Given the description of an element on the screen output the (x, y) to click on. 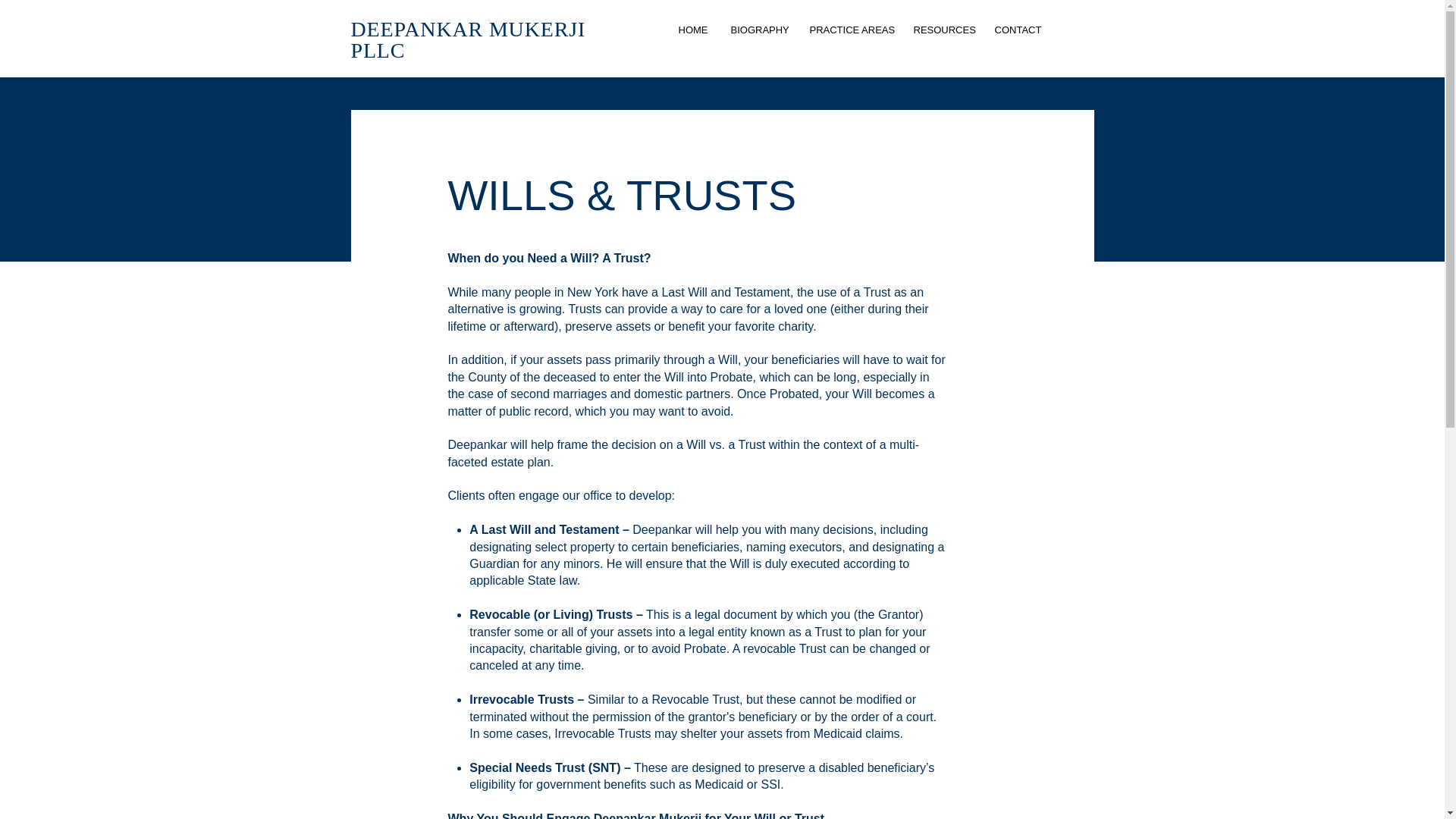
CONTACT (1017, 29)
RESOURCES (943, 29)
DEEPANKAR MUKERJI PLLC (467, 39)
HOME (692, 29)
BIOGRAPHY (758, 29)
